Given the description of an element on the screen output the (x, y) to click on. 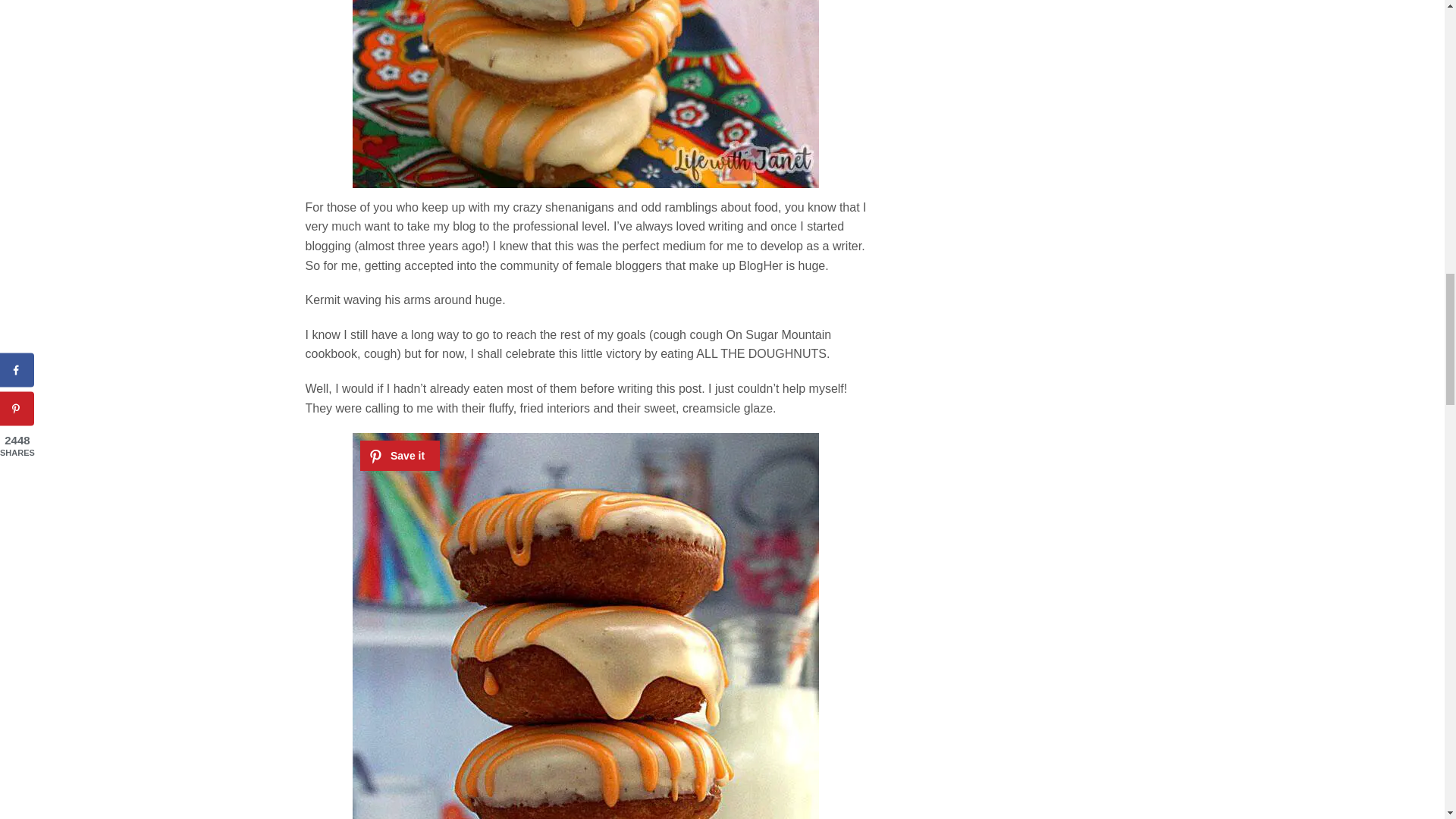
Save it (399, 455)
